Given the description of an element on the screen output the (x, y) to click on. 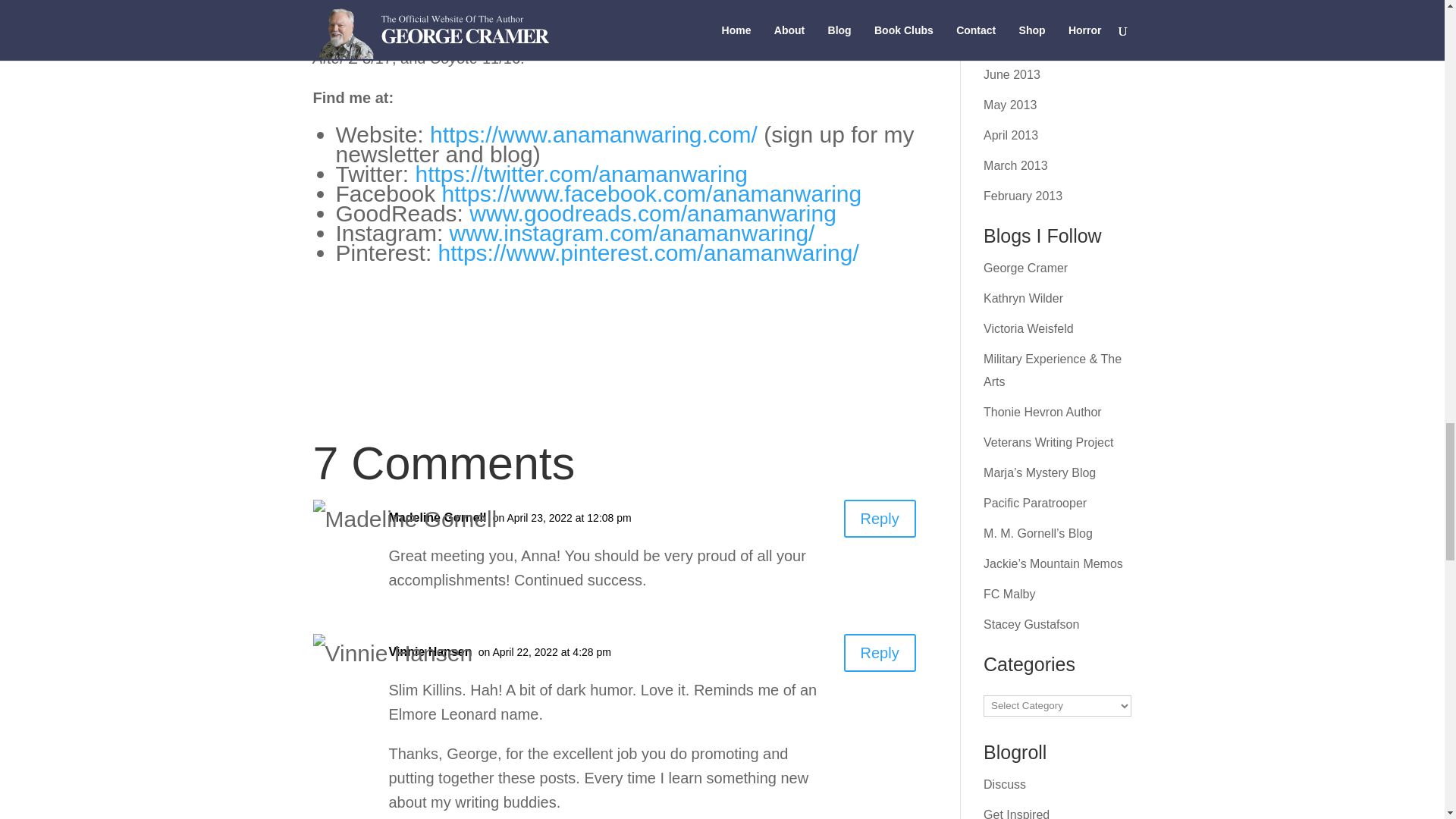
Vinnie Hansen (429, 651)
Madeline Gornell (437, 517)
Reply (879, 652)
Reply (879, 518)
